Given the description of an element on the screen output the (x, y) to click on. 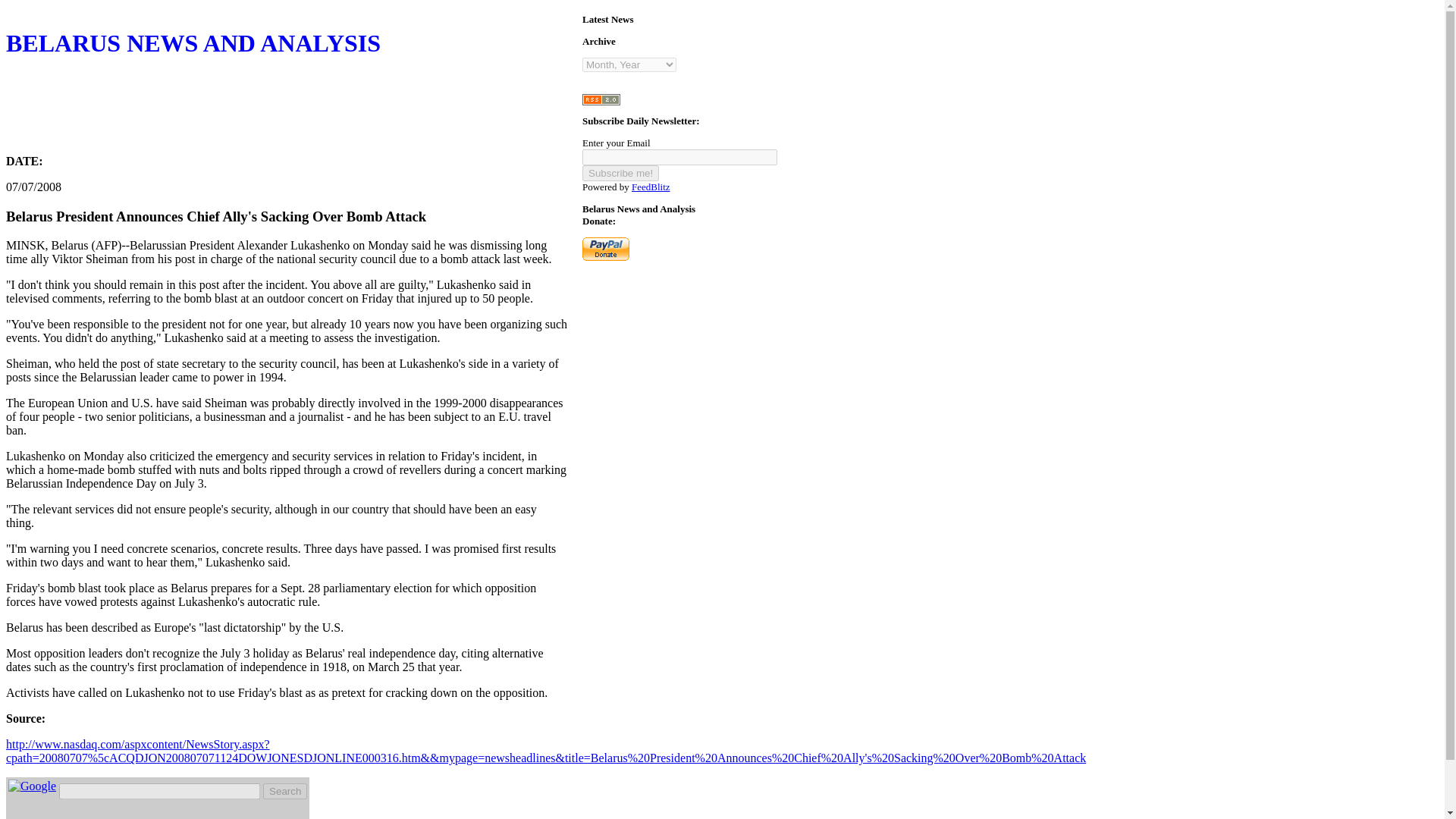
BELARUS NEWS AND ANALYSIS (286, 86)
FeedBlitz (650, 186)
Search (285, 790)
Subscribe me! (620, 172)
Subscribe me! (620, 172)
Advertisement (281, 108)
Search (285, 790)
